Given the description of an element on the screen output the (x, y) to click on. 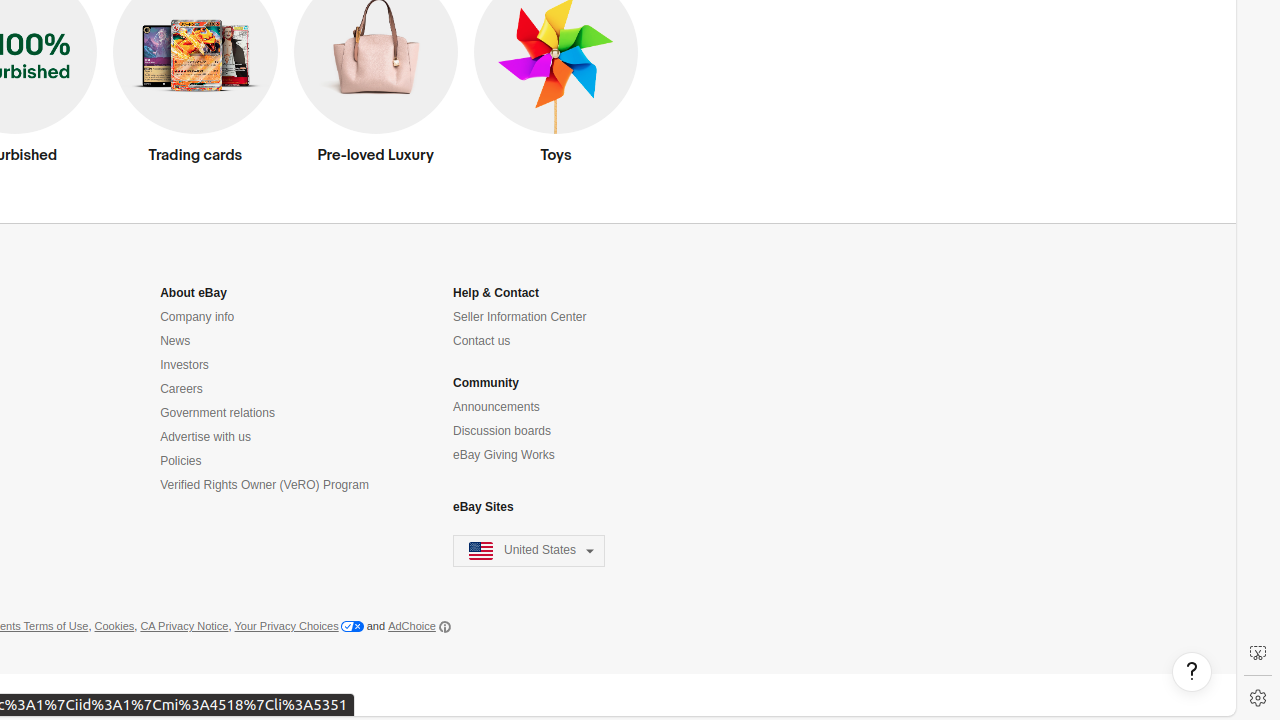
About eBay Element type: link (193, 293)
Help, opens dialogs Element type: push-button (1192, 672)
CA Privacy Notice Element type: link (184, 627)
Seller Information Center Element type: link (520, 317)
Community Element type: link (486, 383)
